Given the description of an element on the screen output the (x, y) to click on. 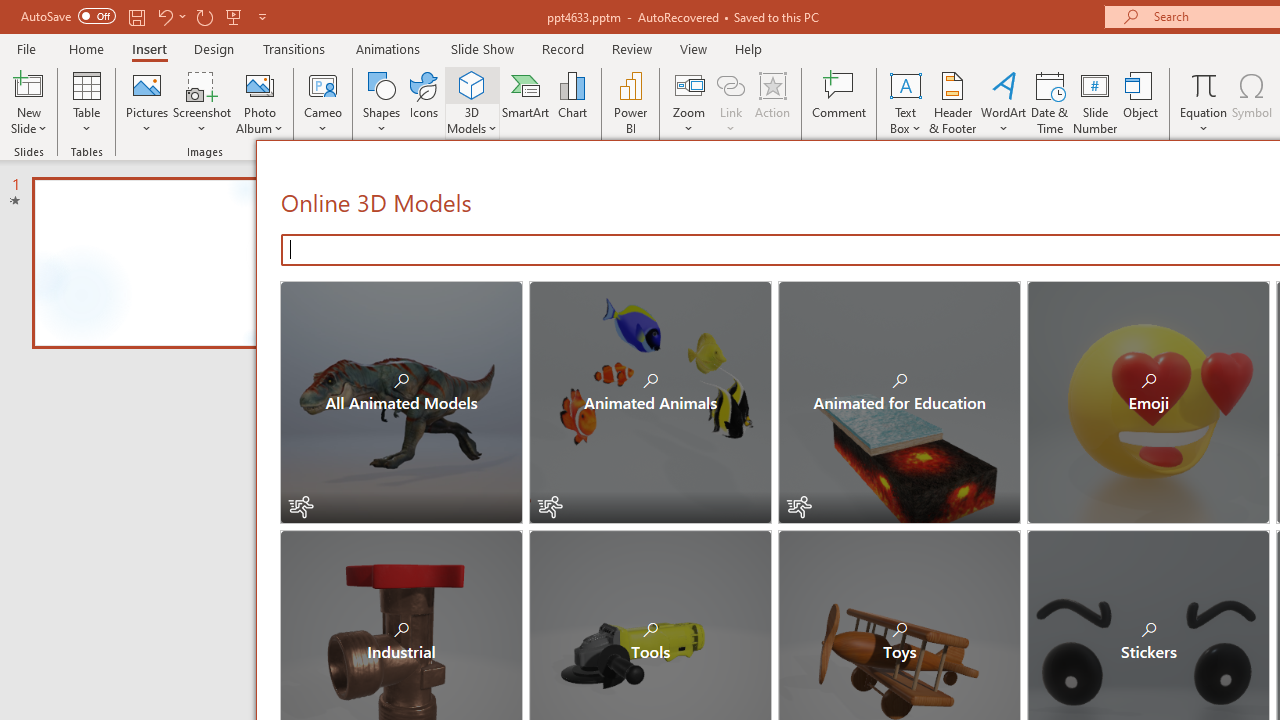
Emoji (1147, 402)
Power BI (630, 102)
Slide Number (1095, 102)
Equation (1203, 102)
Link (731, 102)
Draw Horizontal Text Box (905, 84)
